Given the description of an element on the screen output the (x, y) to click on. 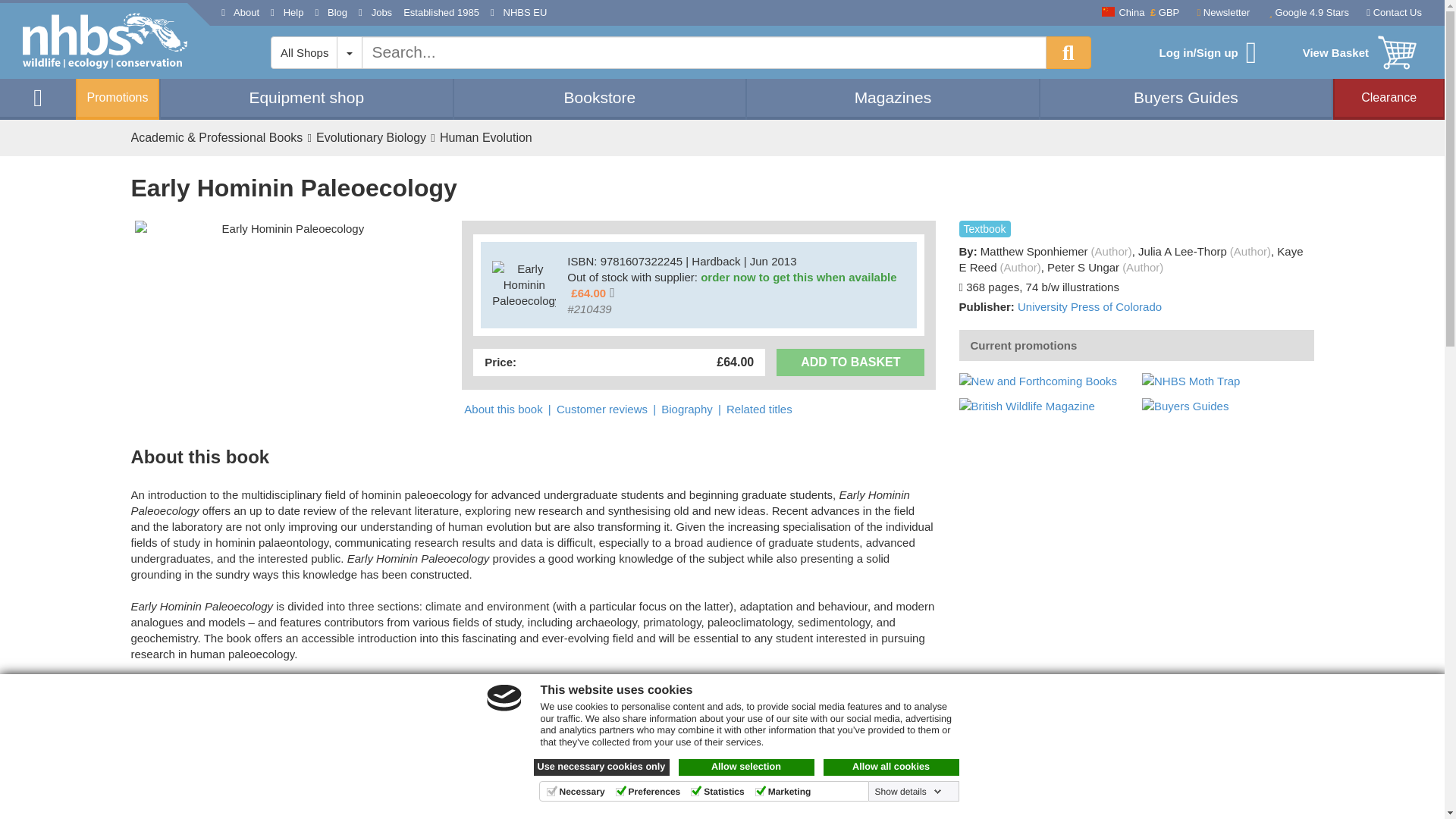
Allow selection (745, 767)
Use necessary cookies only (601, 767)
Allow all cookies (891, 767)
Show details (908, 791)
